Given the description of an element on the screen output the (x, y) to click on. 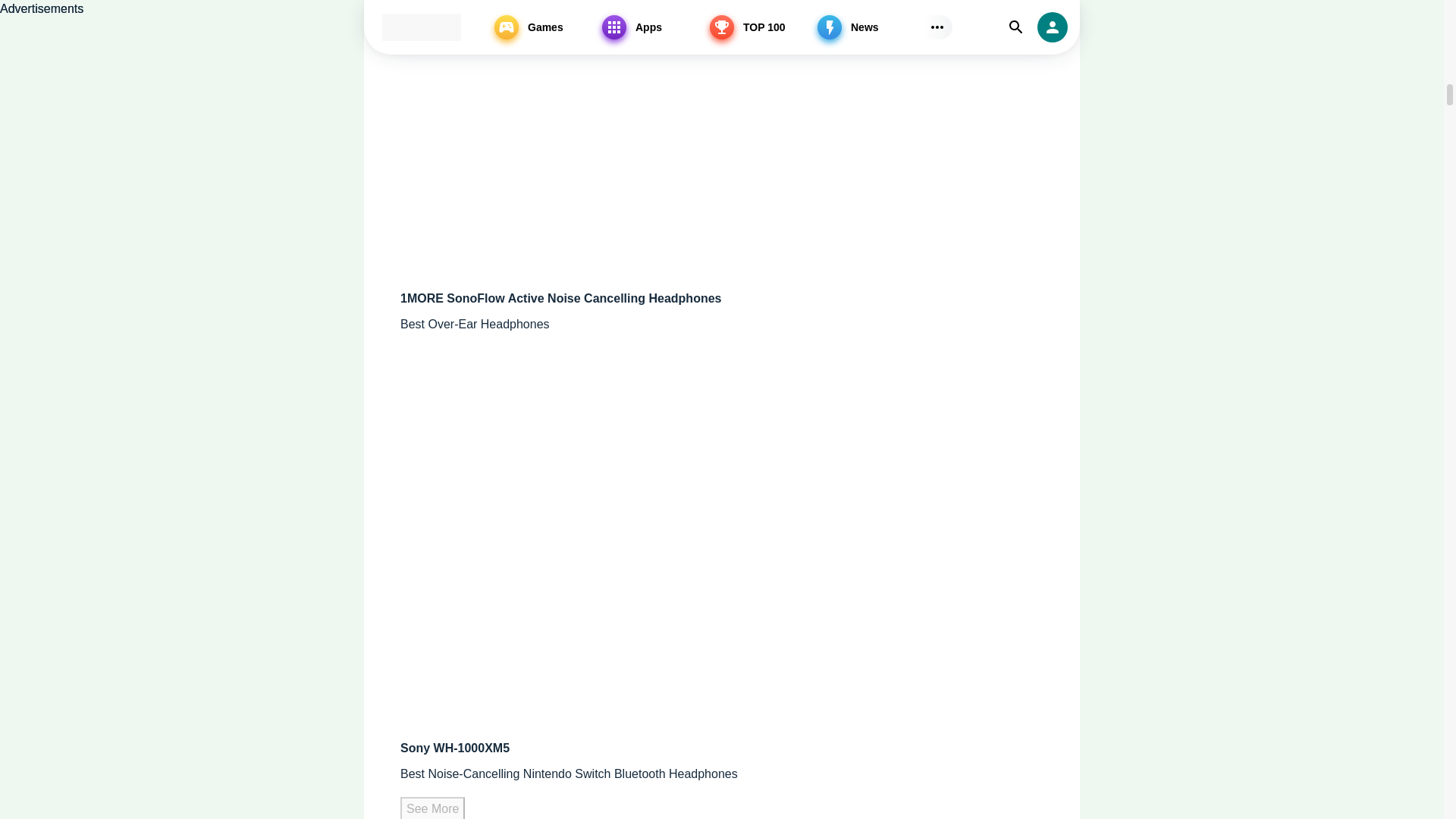
The Best Bluetooth Headphones for Nintendo Switch of 2024 4 (589, 138)
See More (432, 807)
